Given the description of an element on the screen output the (x, y) to click on. 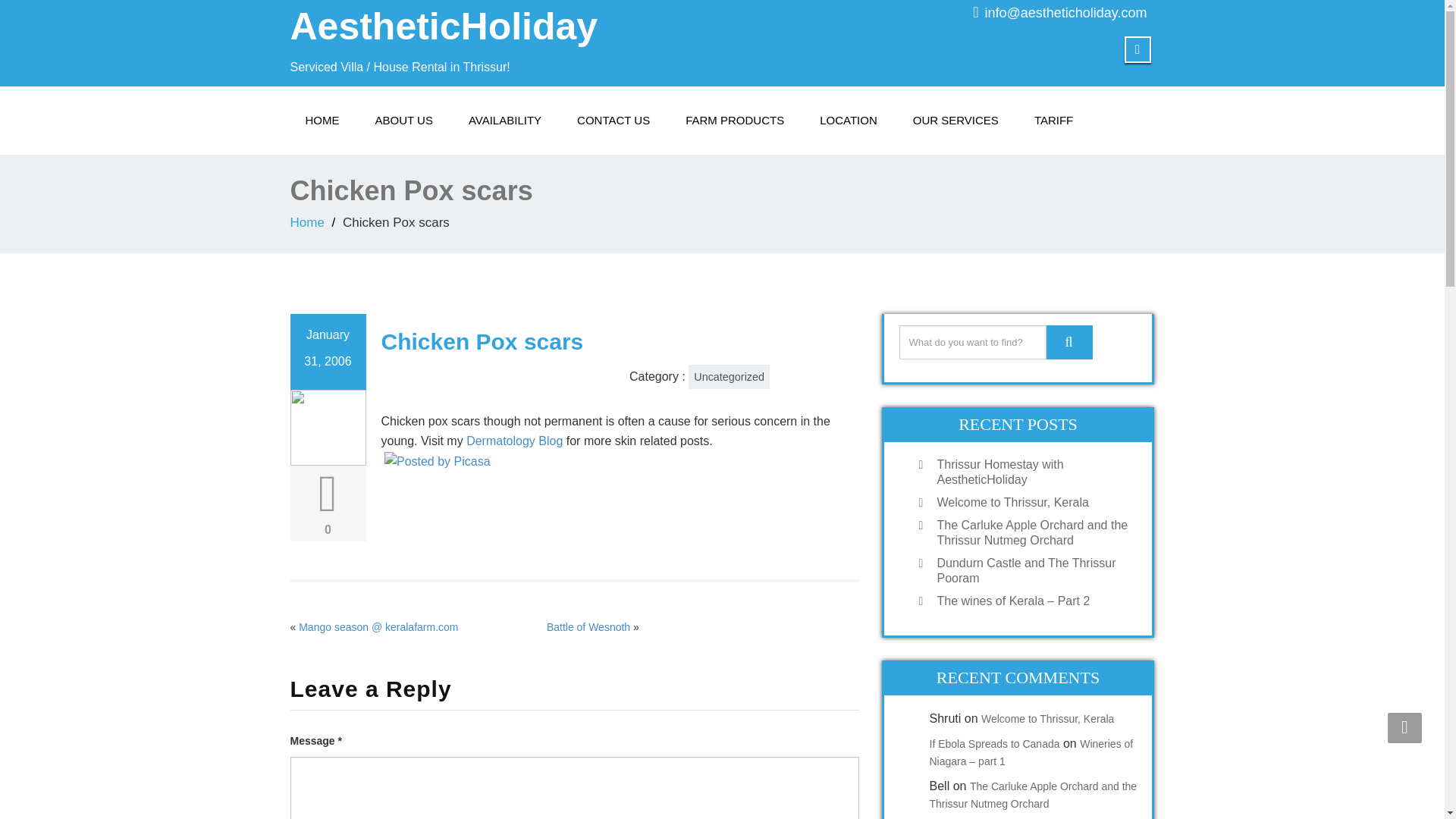
Uncategorized (729, 376)
Dermatology Blog (515, 440)
LOCATION (848, 120)
AestheticHoliday (442, 25)
ABOUT US (402, 120)
Home (321, 120)
Battle of Wesnoth (588, 626)
HOME (321, 120)
Home (306, 222)
If Ebola Spreads to Canada (994, 743)
